Given the description of an element on the screen output the (x, y) to click on. 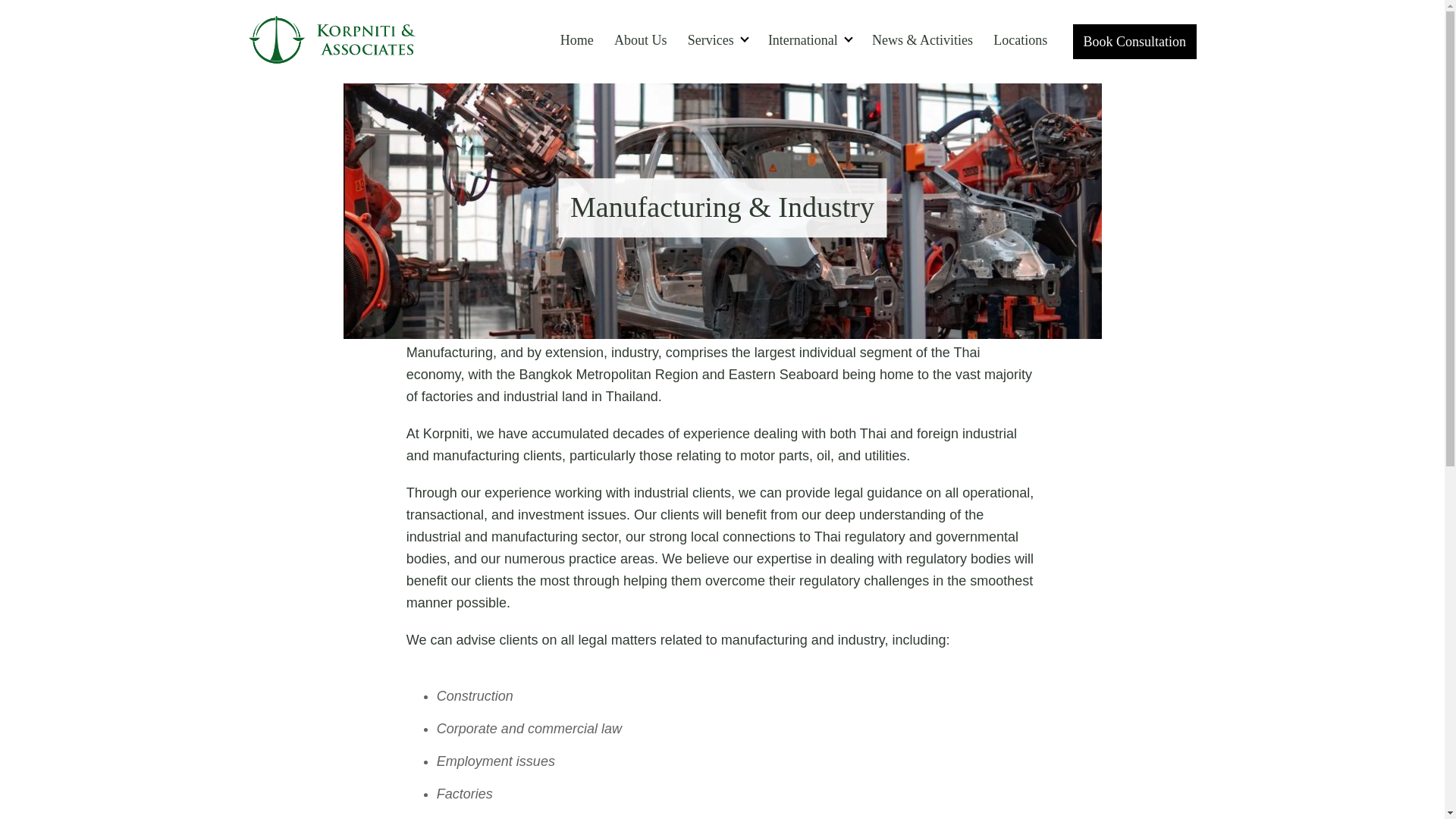
Book Consultation (1134, 41)
Locations (1020, 40)
Home (576, 40)
International (809, 40)
About Us (640, 40)
Home (576, 40)
International (809, 40)
Services (716, 40)
Services (716, 40)
About Us (640, 40)
Book Consultation (1134, 41)
Locations (1020, 40)
